Given the description of an element on the screen output the (x, y) to click on. 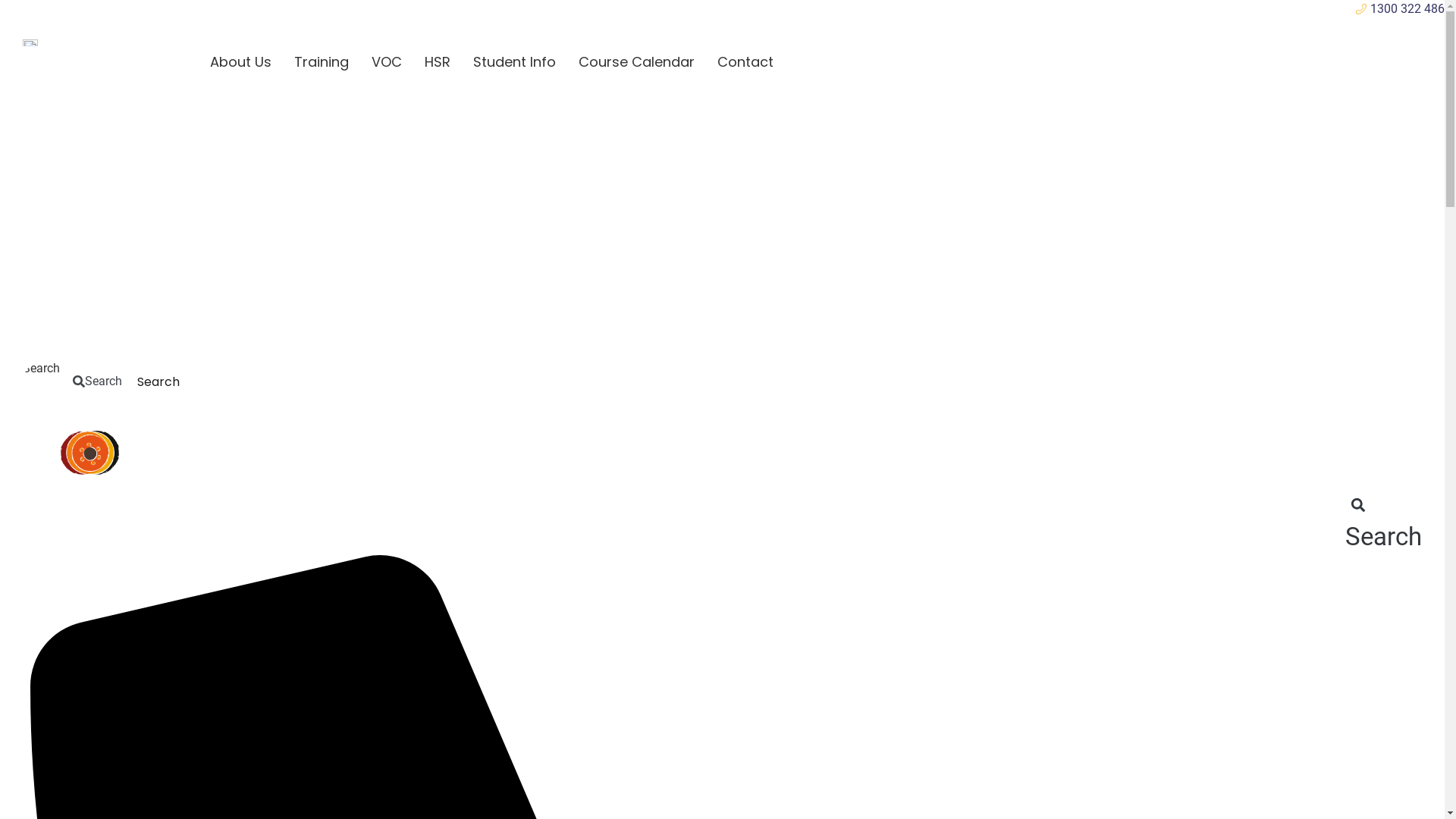
HSR Element type: text (437, 61)
1300 322 486 Element type: text (166, 356)
About Us Element type: text (240, 61)
Course Calendar Element type: text (636, 61)
Student Info Element type: text (514, 61)
Contact Element type: text (745, 61)
1300 322 486 Element type: text (722, 9)
VOC Element type: text (386, 61)
Training Element type: text (321, 61)
Skip to content Element type: text (0, 0)
